Given the description of an element on the screen output the (x, y) to click on. 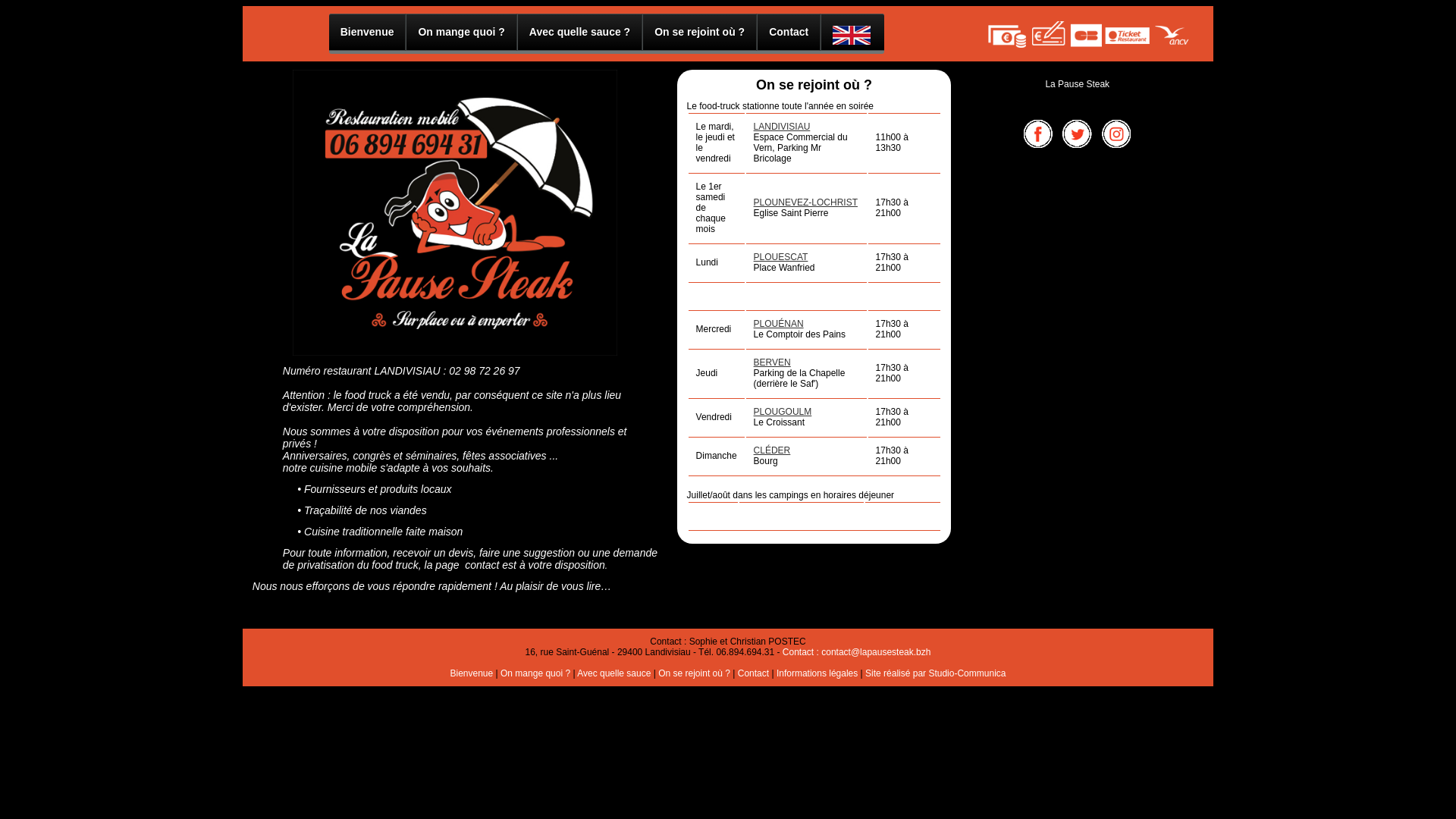
PLOUESCAT Element type: text (780, 256)
PLOUGOULM Element type: text (782, 411)
Avec quelle sauce Element type: text (613, 673)
Contact : contact@lapausesteak.bzh Element type: text (856, 651)
On mange quoi ? Element type: text (460, 31)
Contact Element type: text (788, 31)
Avec quelle sauce ? Element type: text (579, 31)
 contact  Element type: text (481, 565)
La Pause Steak Element type: text (1076, 83)
BERVEN Element type: text (771, 362)
Contact Element type: text (752, 673)
LANDIVISIAU Element type: text (781, 126)
On mange quoi ? Element type: text (535, 673)
Bienvenue Element type: text (471, 673)
PLOUNEVEZ-LOCHRIST Element type: text (805, 202)
Bienvenue Element type: text (367, 31)
